Given the description of an element on the screen output the (x, y) to click on. 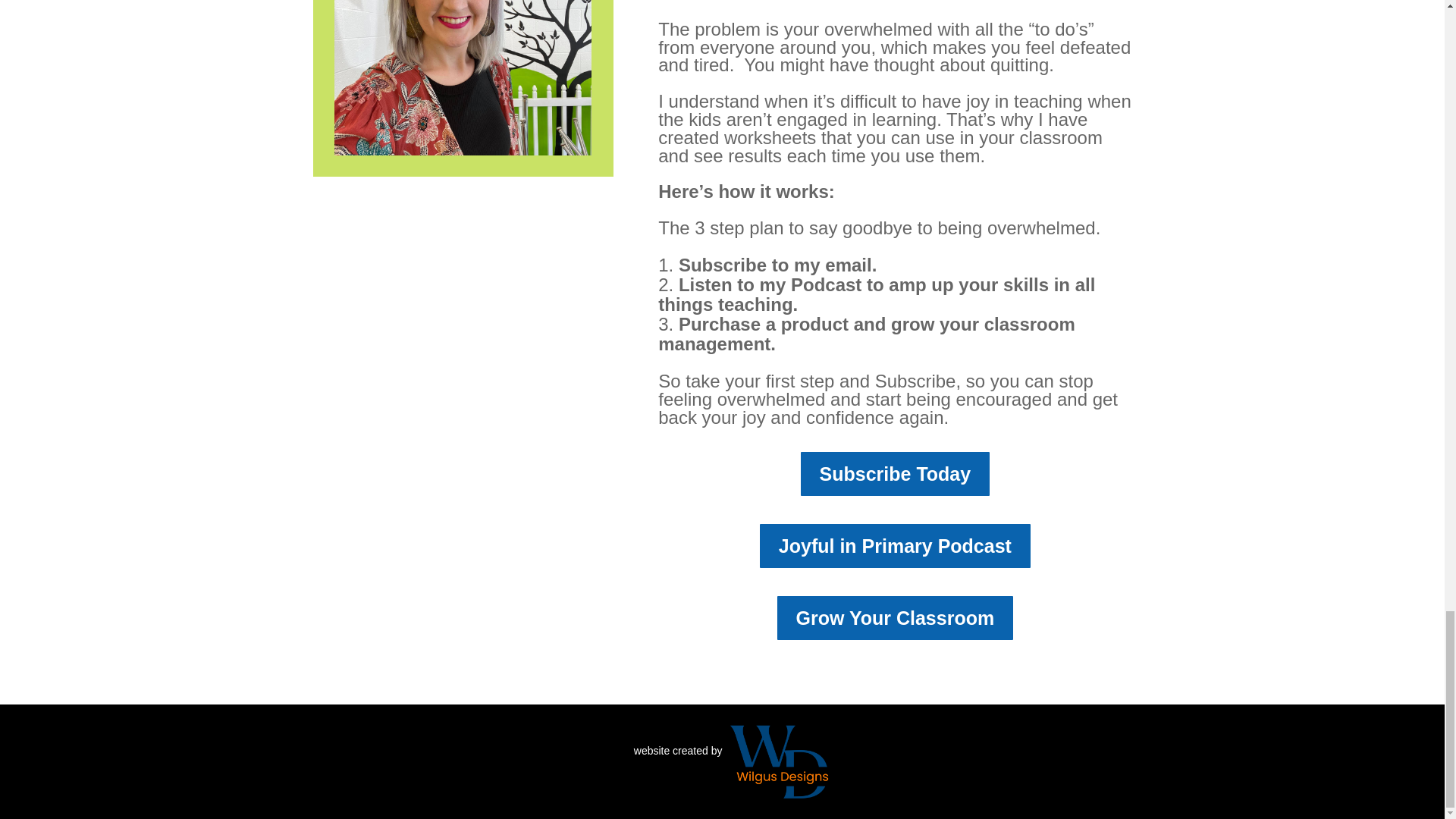
Grow Your Classroom (895, 617)
WD Int.001 (778, 760)
Joyful in Primary Podcast (895, 545)
Subscribe Today (894, 473)
